Given the description of an element on the screen output the (x, y) to click on. 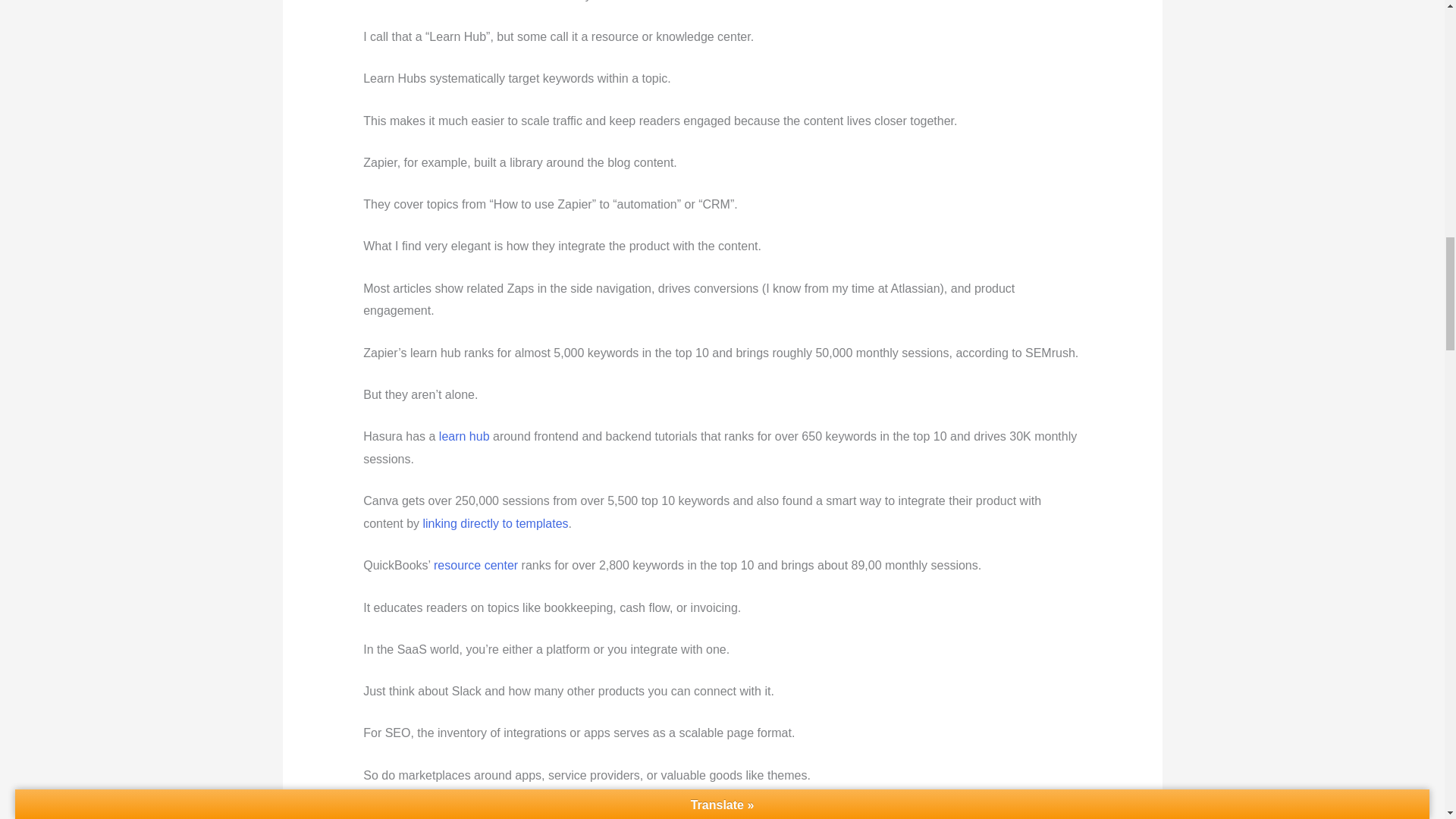
linking directly to templates (496, 522)
resource center (475, 564)
learn hub (464, 436)
